Given the description of an element on the screen output the (x, y) to click on. 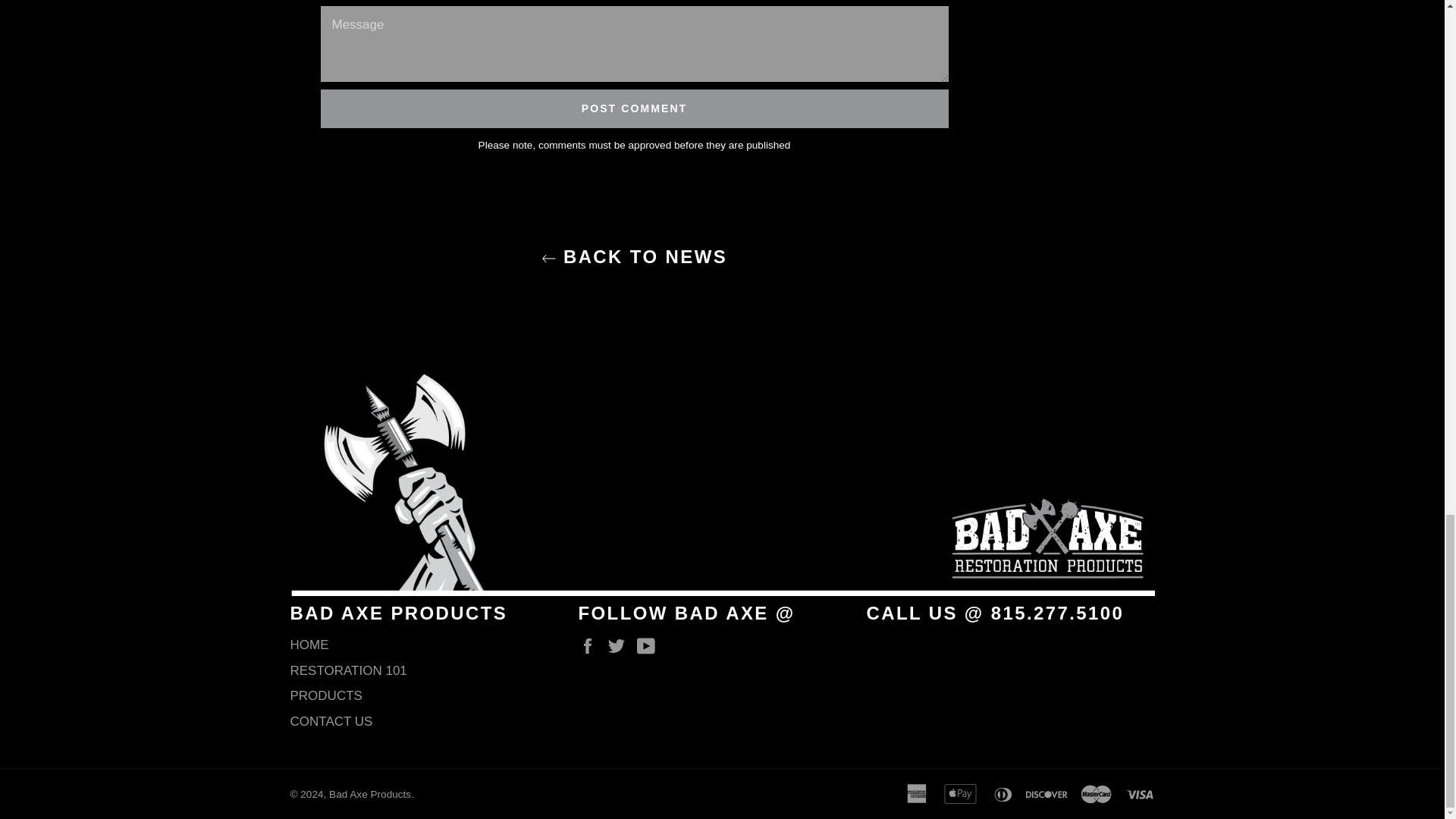
Post comment (633, 108)
